Given the description of an element on the screen output the (x, y) to click on. 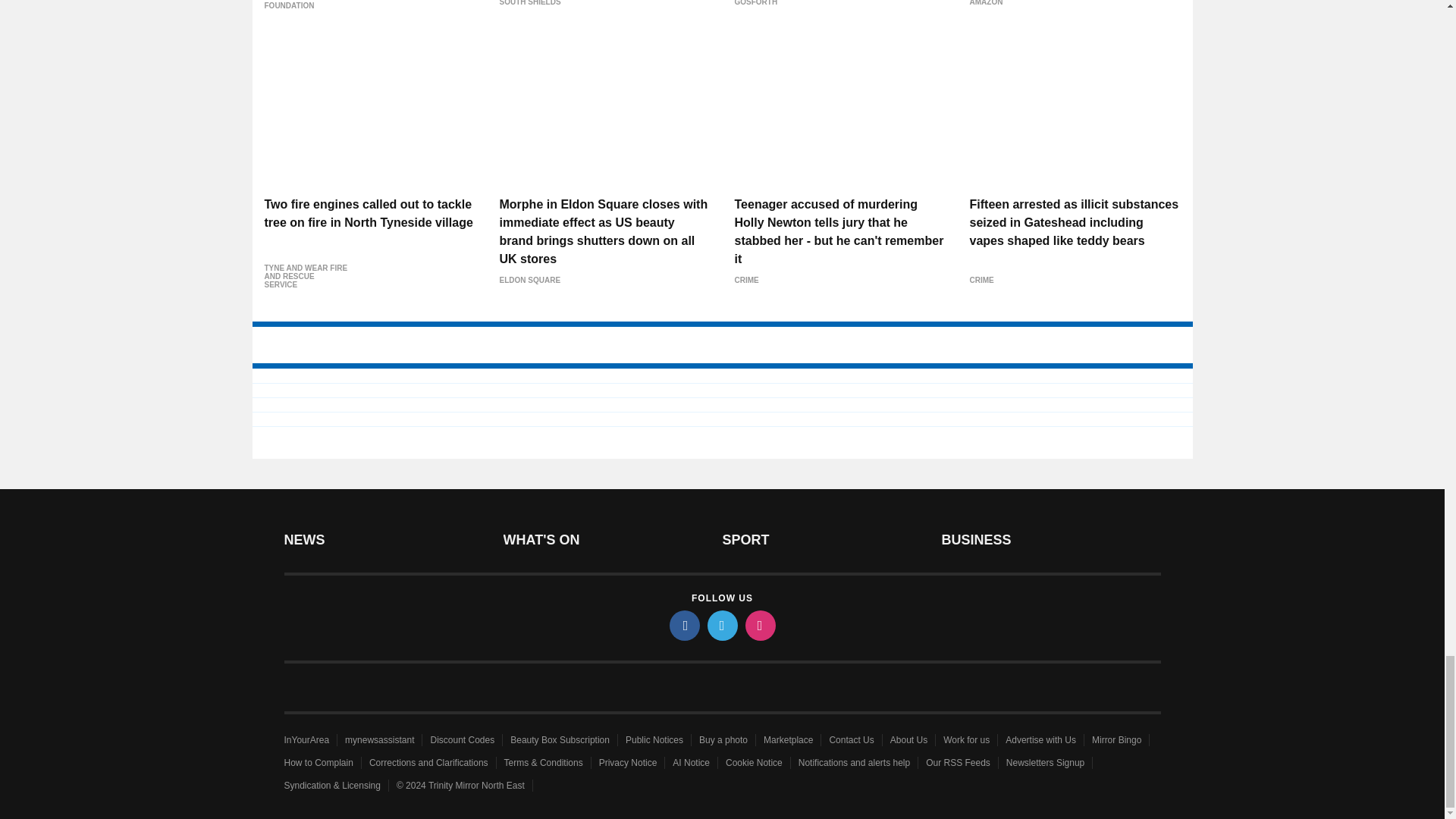
facebook (683, 625)
twitter (721, 625)
instagram (759, 625)
